Given the description of an element on the screen output the (x, y) to click on. 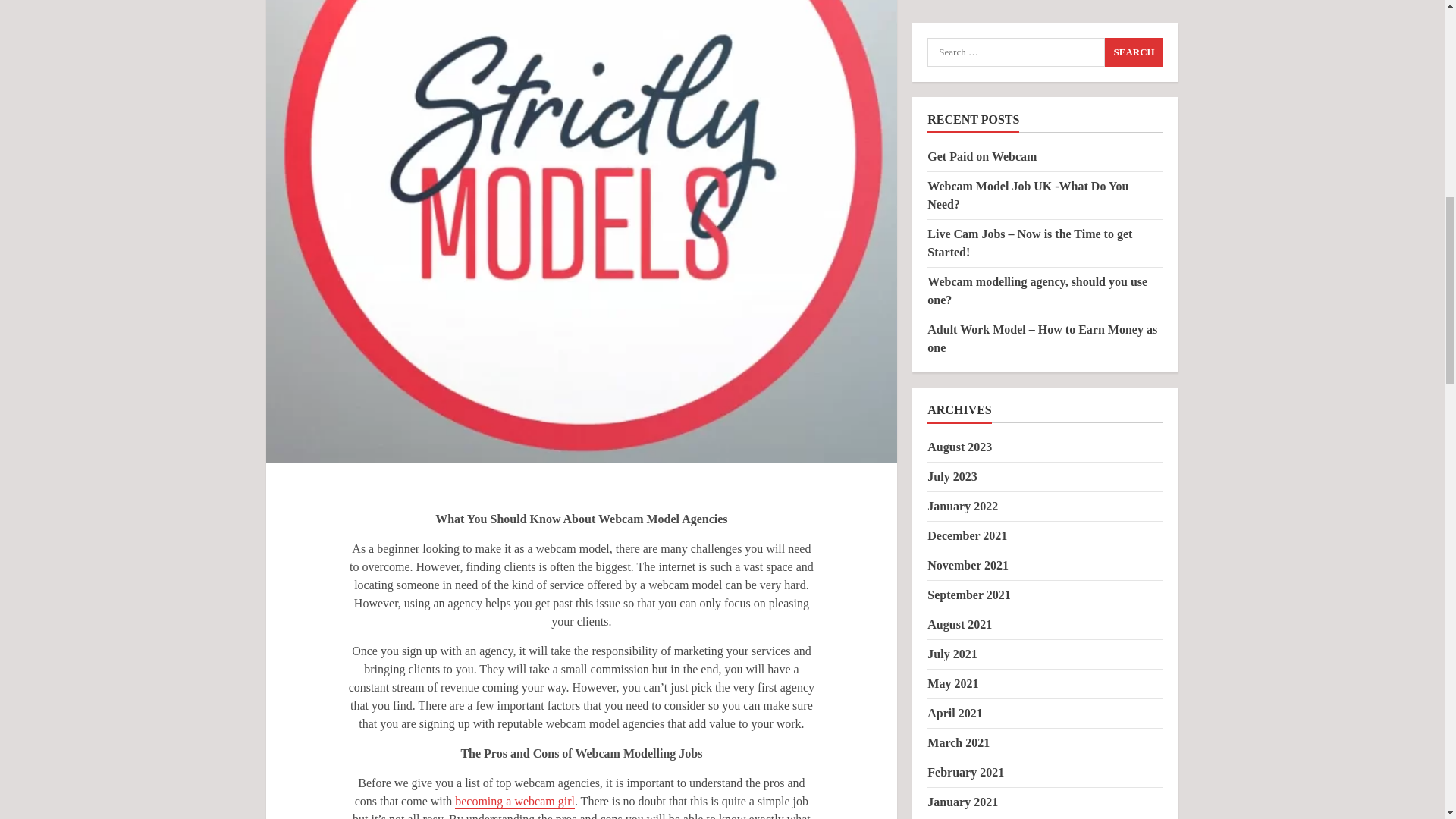
becoming a webcam girl (514, 801)
